Given the description of an element on the screen output the (x, y) to click on. 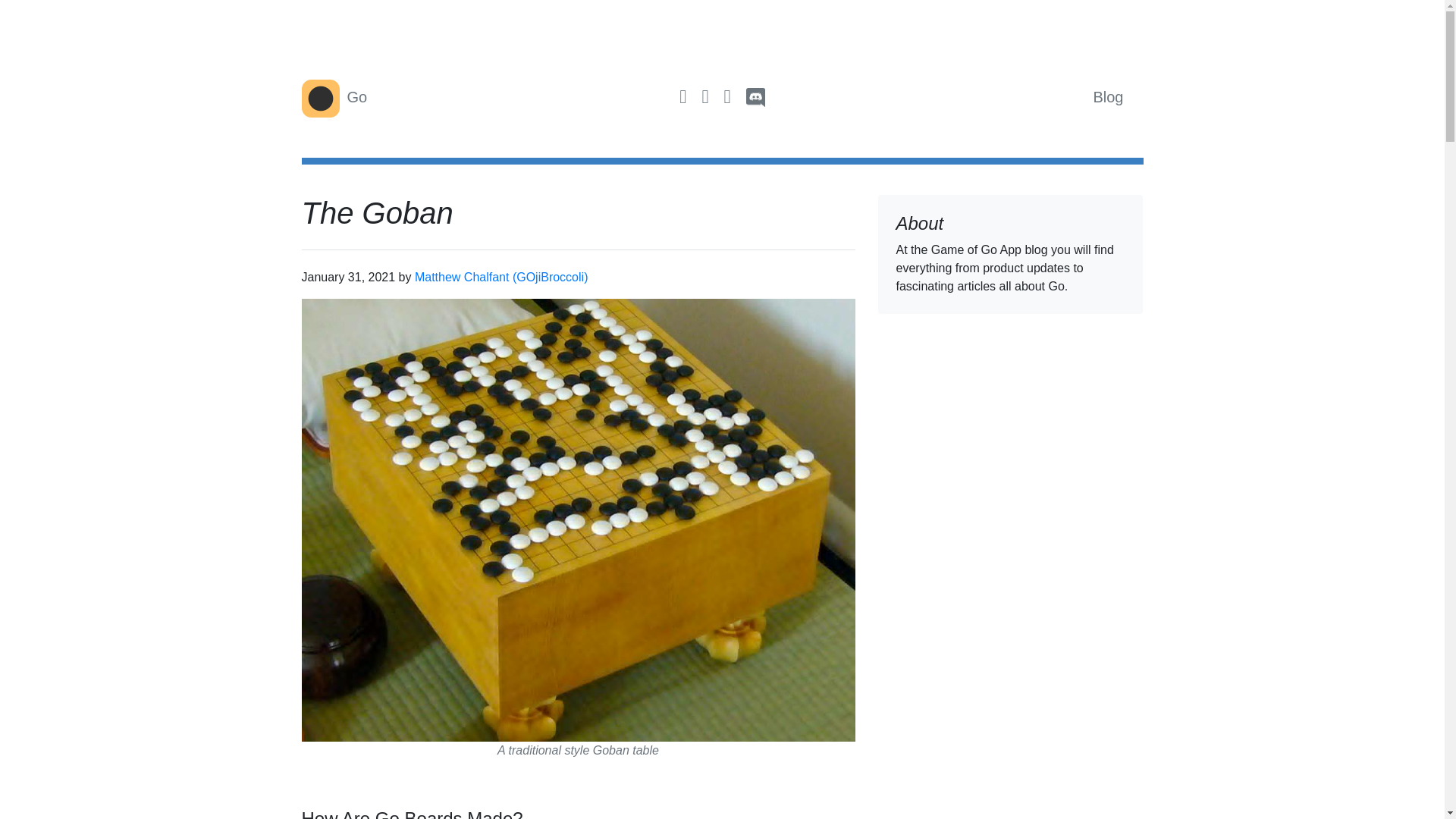
Go (334, 98)
Blog (1107, 96)
